Given the description of an element on the screen output the (x, y) to click on. 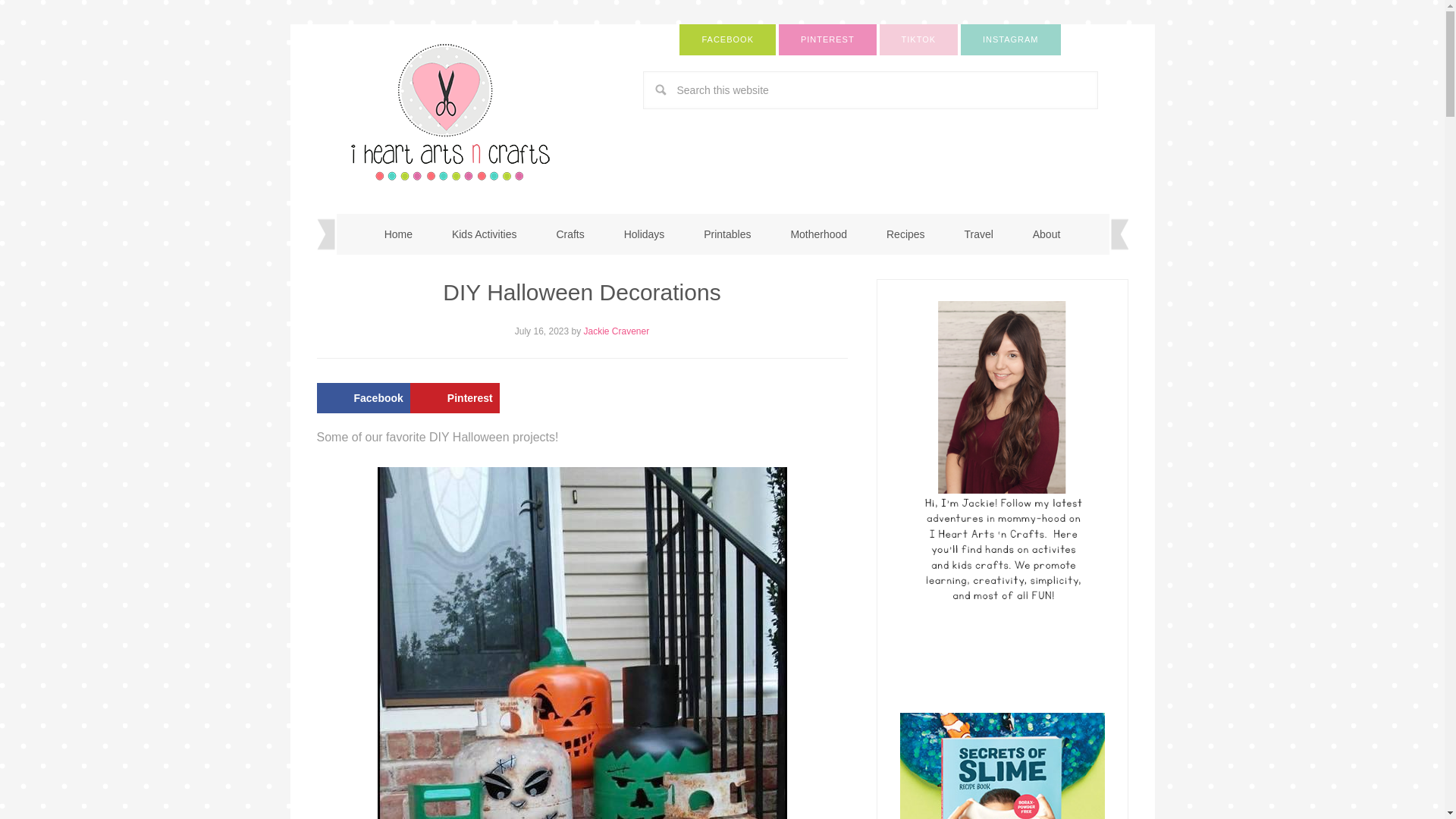
About (1046, 233)
FACEBOOK (727, 39)
TIKTOK (918, 39)
Holidays (643, 233)
Travel (977, 233)
INSTAGRAM (1010, 39)
I Heart Arts n Crafts (468, 111)
PINTEREST (827, 39)
Home (398, 233)
Save to Pinterest (454, 397)
Printables (726, 233)
Kids Activities (484, 233)
Motherhood (817, 233)
